Given the description of an element on the screen output the (x, y) to click on. 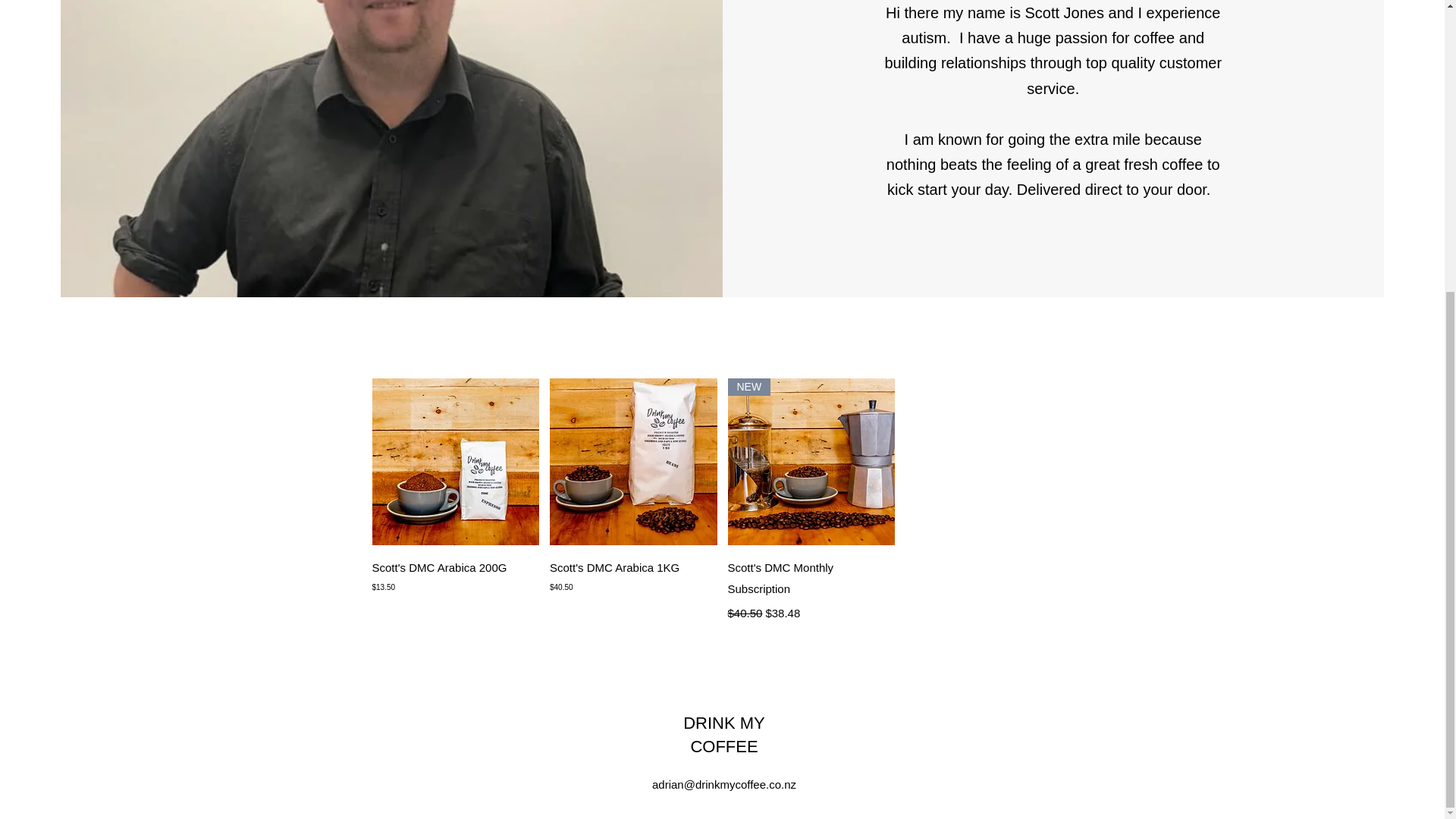
DRINK MY COFFEE (723, 734)
NEW (811, 462)
